Given the description of an element on the screen output the (x, y) to click on. 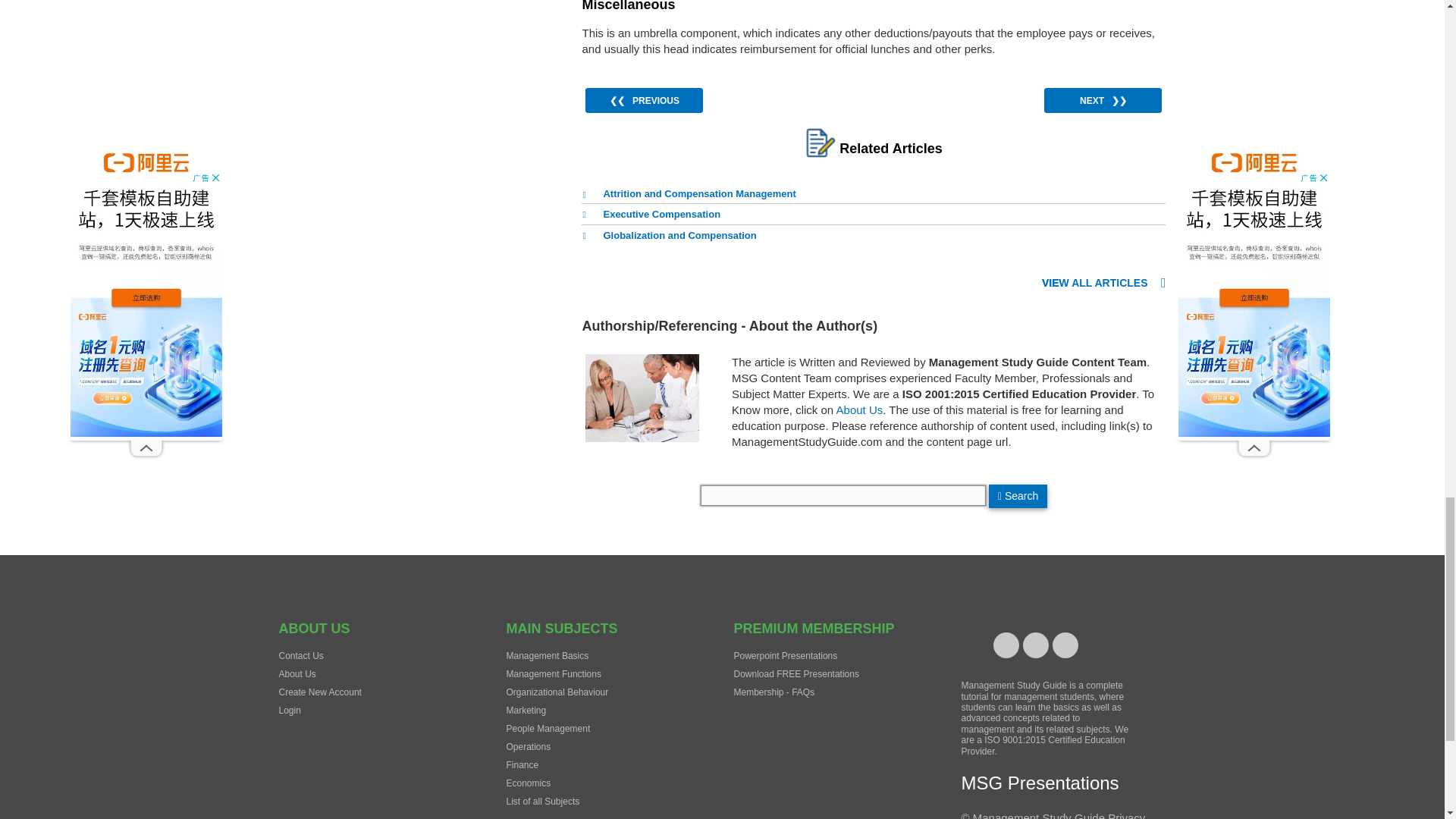
Globalization and Compensation (667, 236)
Click here to go to the previous page. (644, 99)
Click here to go to the next page. (1102, 99)
This page contains information on Executive Compensation (650, 214)
VIEW ALL ARTICLES (1104, 283)
Executive Compensation (650, 214)
Attrition and Compensation Management (687, 196)
About Us (859, 409)
